Given the description of an element on the screen output the (x, y) to click on. 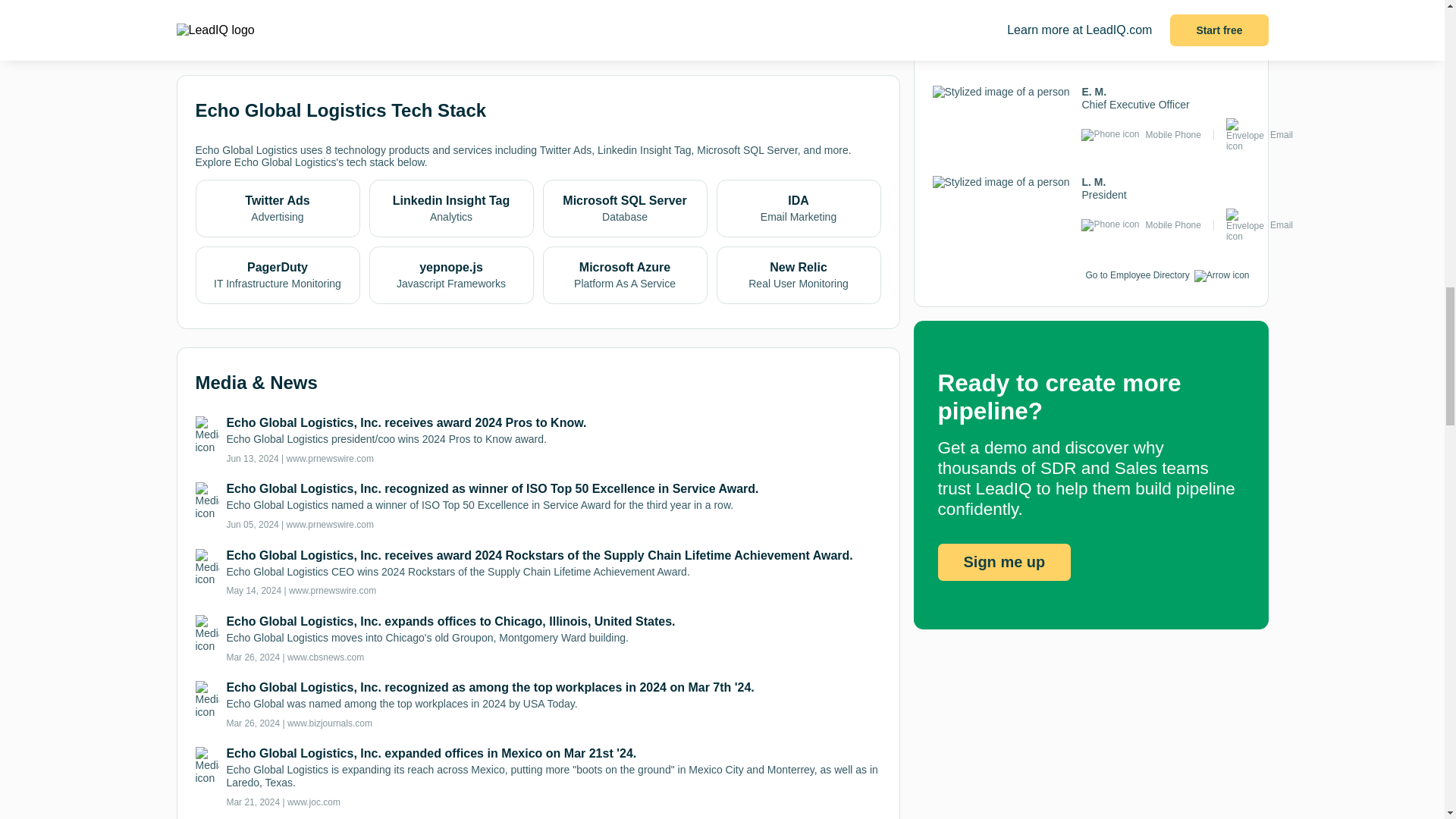
Explore similar companies (272, 15)
Explore similar companies (272, 16)
